Given the description of an element on the screen output the (x, y) to click on. 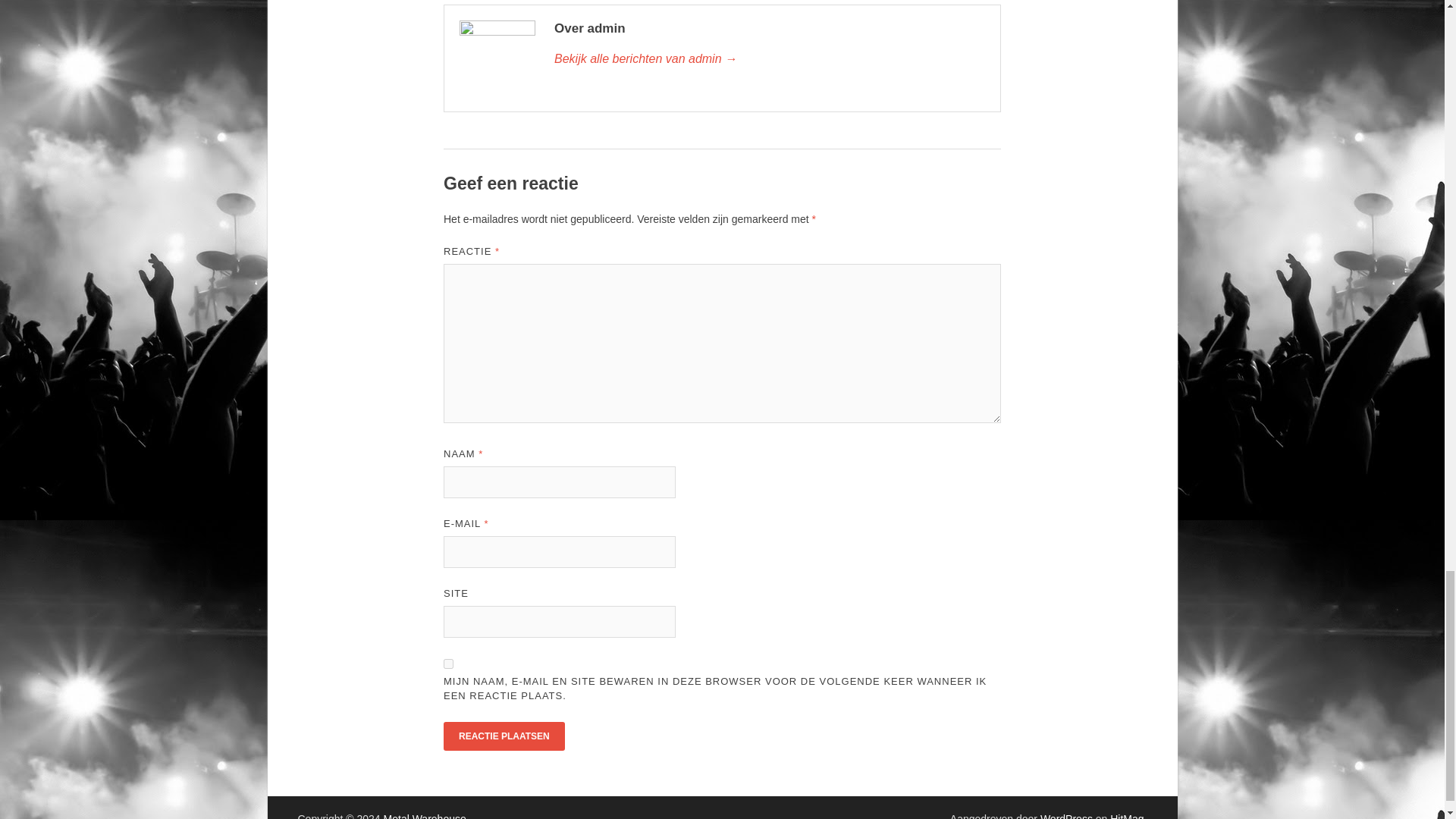
admin (769, 58)
Reactie plaatsen (504, 736)
yes (448, 664)
